Given the description of an element on the screen output the (x, y) to click on. 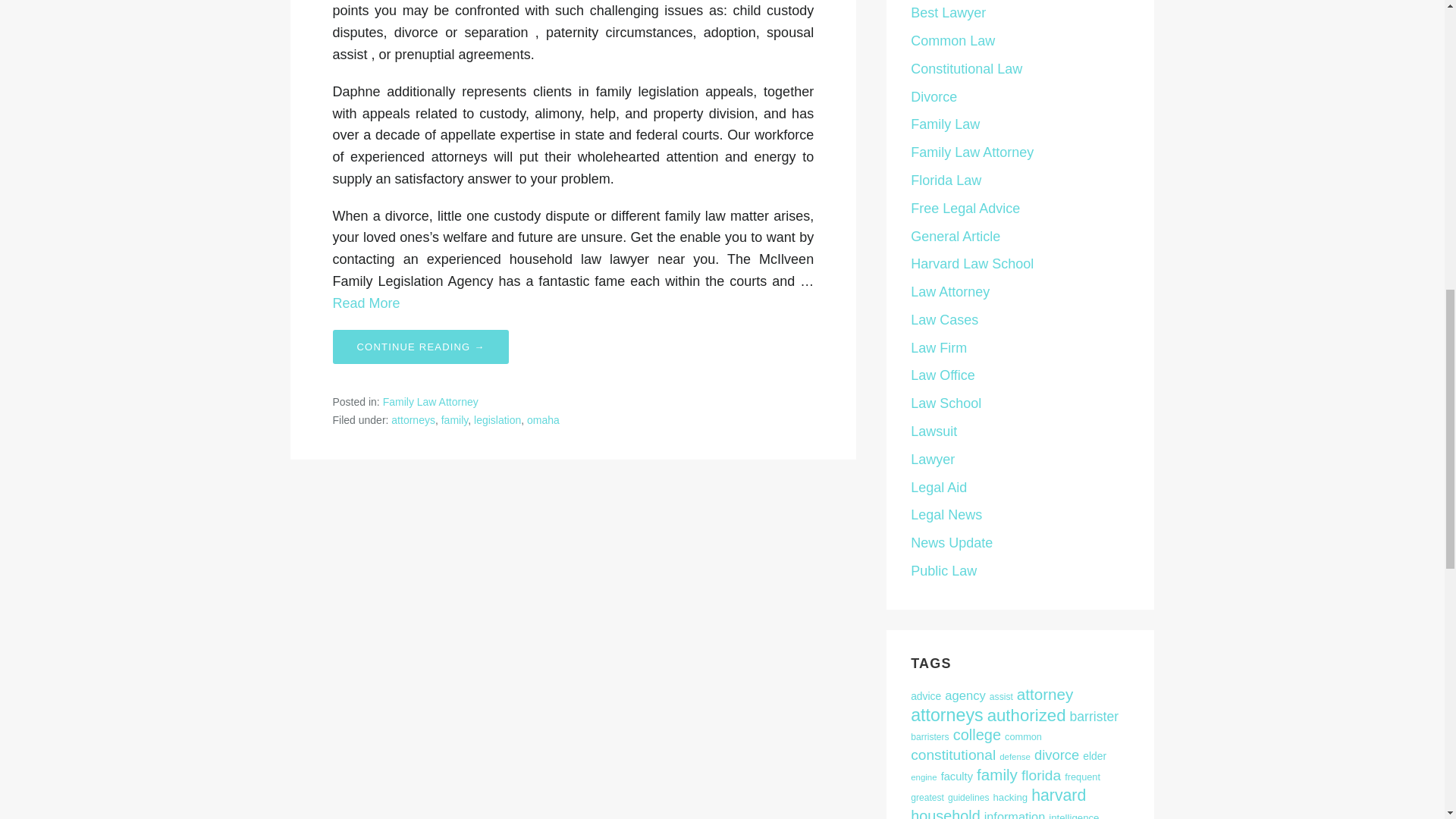
attorneys (413, 419)
Read More (364, 303)
omaha (543, 419)
legislation (497, 419)
Family Law Attorney (430, 401)
family (454, 419)
